Given the description of an element on the screen output the (x, y) to click on. 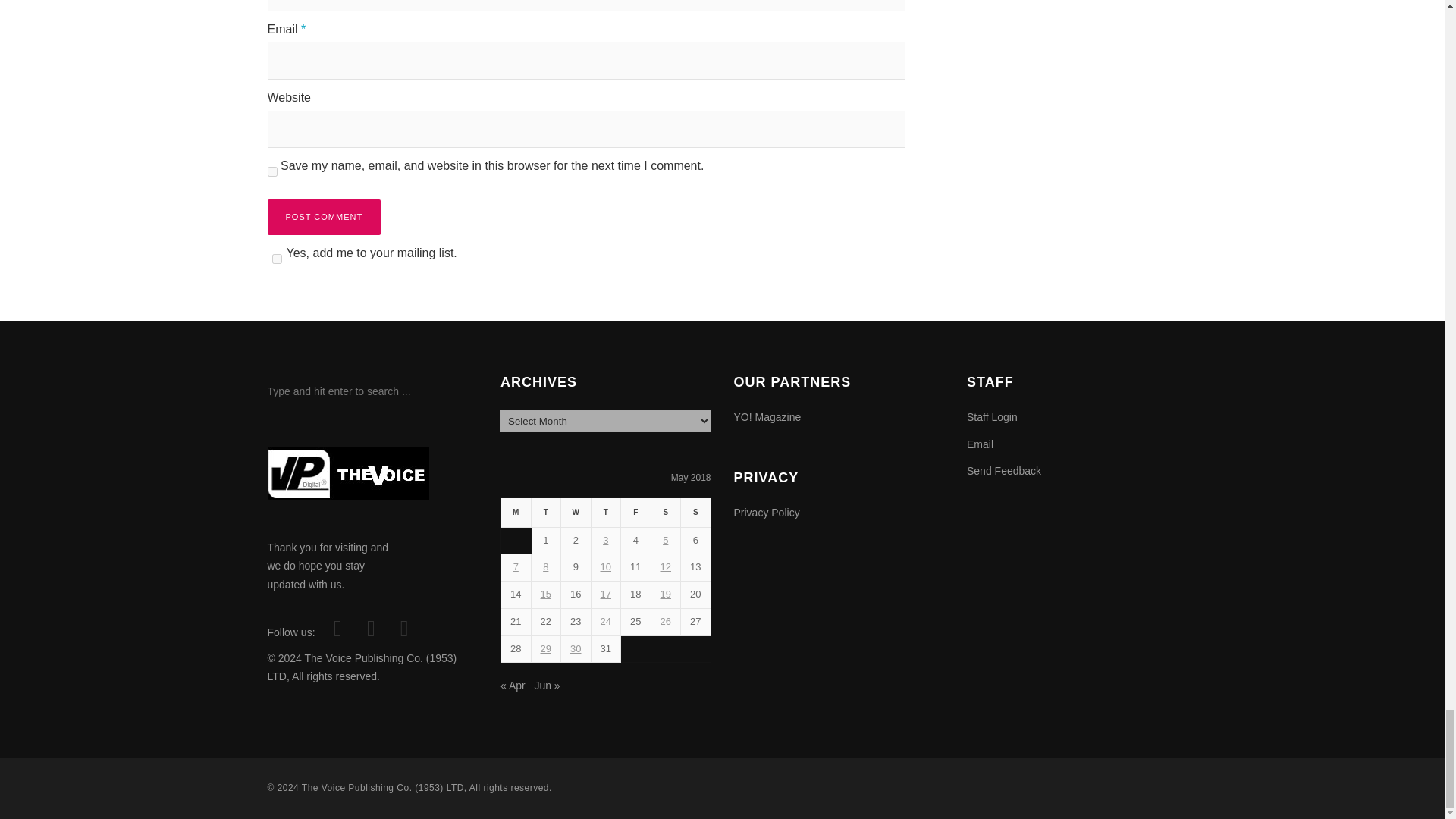
yes (271, 171)
1 (275, 258)
Type and hit enter to search ... (355, 391)
Post Comment (323, 217)
Type and hit enter to search ... (355, 391)
